Given the description of an element on the screen output the (x, y) to click on. 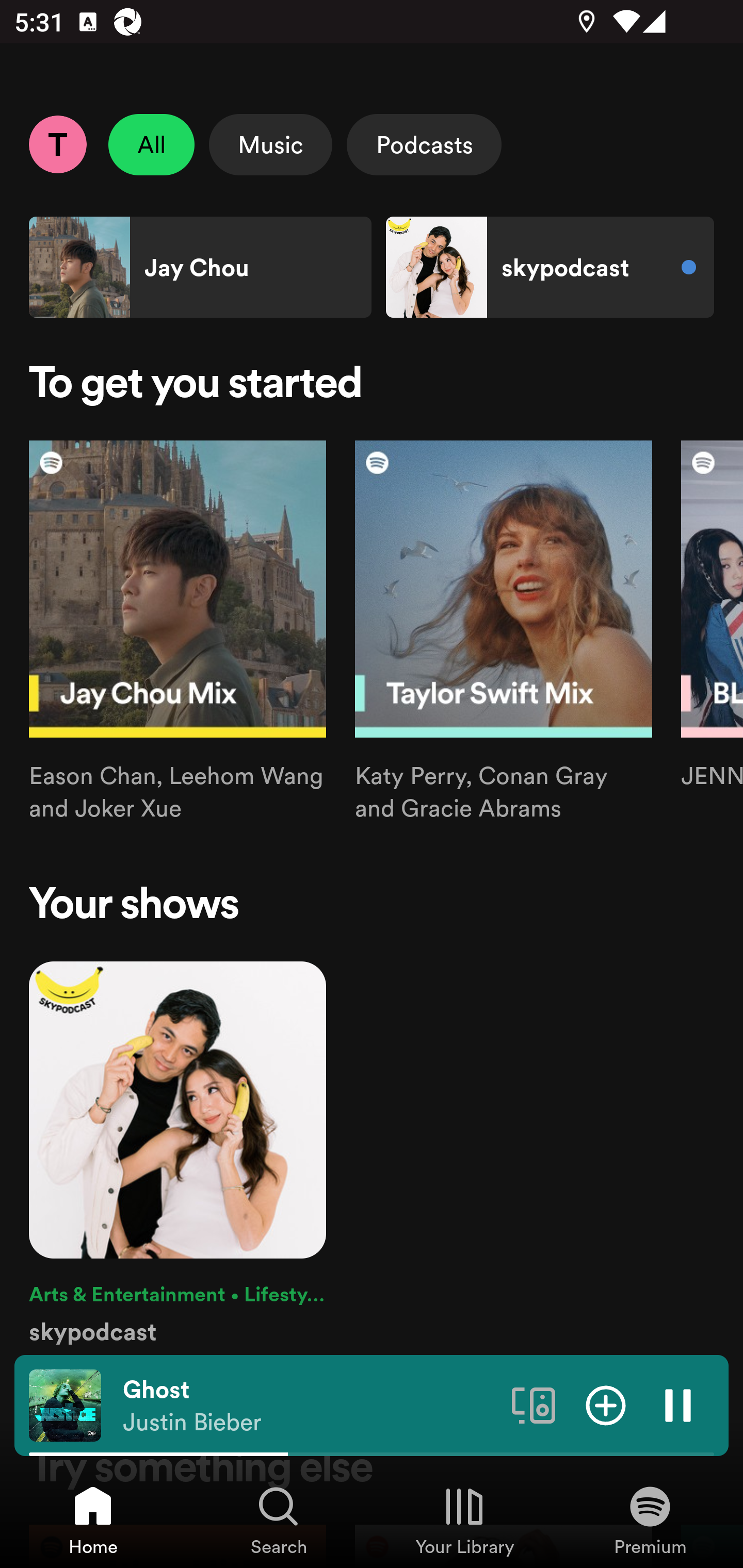
Profile (57, 144)
All Unselect All (151, 144)
Music Select Music (270, 144)
Podcasts Select Podcasts (423, 144)
Jay Chou Shortcut Jay Chou (199, 267)
skypodcast Shortcut skypodcast New content (549, 267)
Ghost Justin Bieber (309, 1405)
The cover art of the currently playing track (64, 1404)
Connect to a device. Opens the devices menu (533, 1404)
Add item (605, 1404)
Pause (677, 1404)
Home, Tab 1 of 4 Home Home (92, 1519)
Search, Tab 2 of 4 Search Search (278, 1519)
Your Library, Tab 3 of 4 Your Library Your Library (464, 1519)
Premium, Tab 4 of 4 Premium Premium (650, 1519)
